Given the description of an element on the screen output the (x, y) to click on. 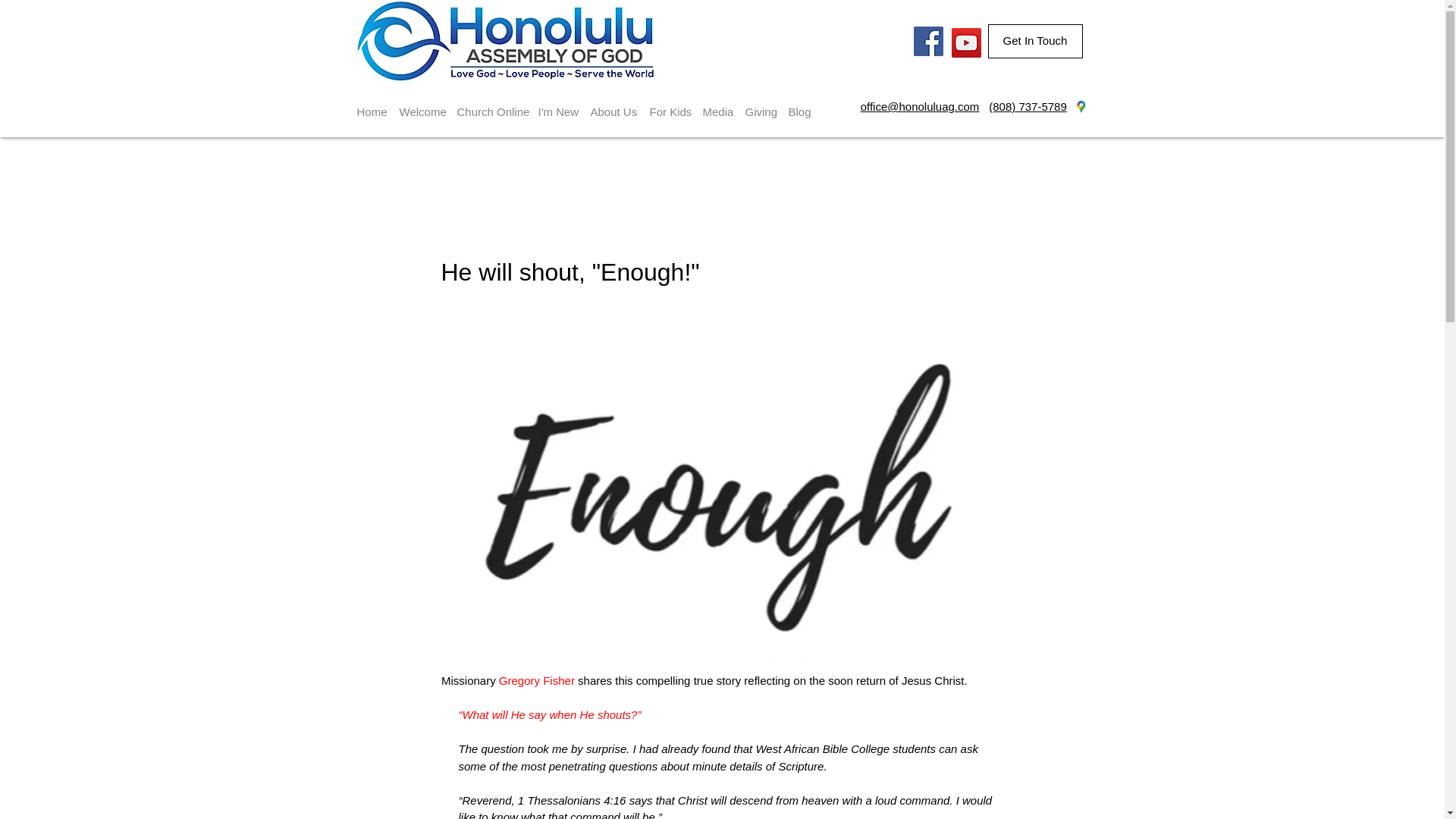
Get In Touch (1034, 41)
Media (716, 104)
Home (371, 104)
I'm New (558, 104)
For Kids (669, 104)
Giving (759, 104)
Blog (799, 104)
Welcome (421, 104)
About Us (613, 104)
Church Online (490, 104)
